Given the description of an element on the screen output the (x, y) to click on. 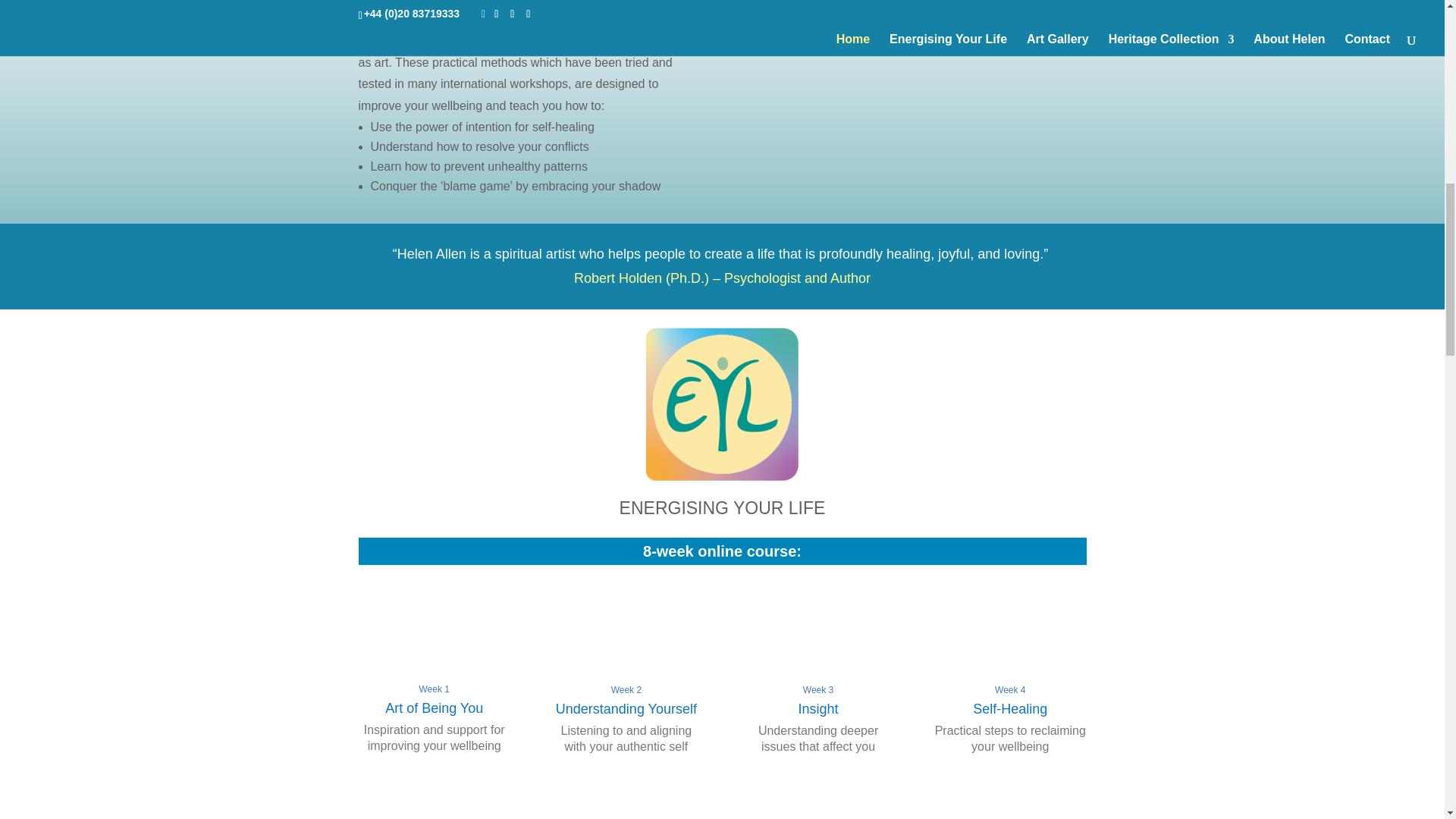
20-08-18 EYL LOGO FINAL-rect (722, 403)
